Given the description of an element on the screen output the (x, y) to click on. 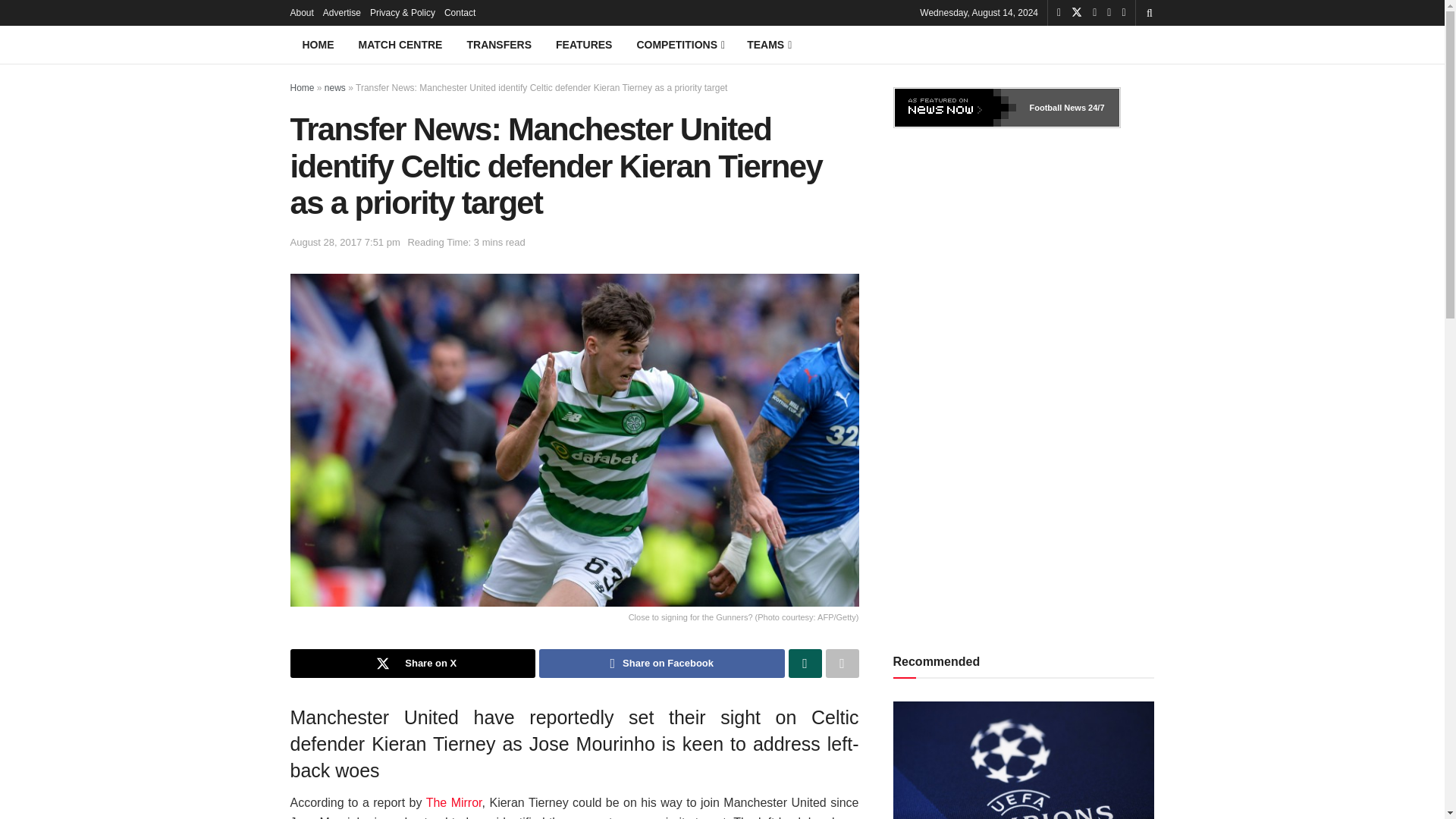
COMPETITIONS (679, 44)
TRANSFERS (498, 44)
FEATURES (583, 44)
About (301, 12)
Advertise (342, 12)
Click here for more Football news from NewsNow (1057, 107)
HOME (317, 44)
Click here for more Football news from NewsNow (955, 107)
MATCH CENTRE (400, 44)
Contact (460, 12)
